Given the description of an element on the screen output the (x, y) to click on. 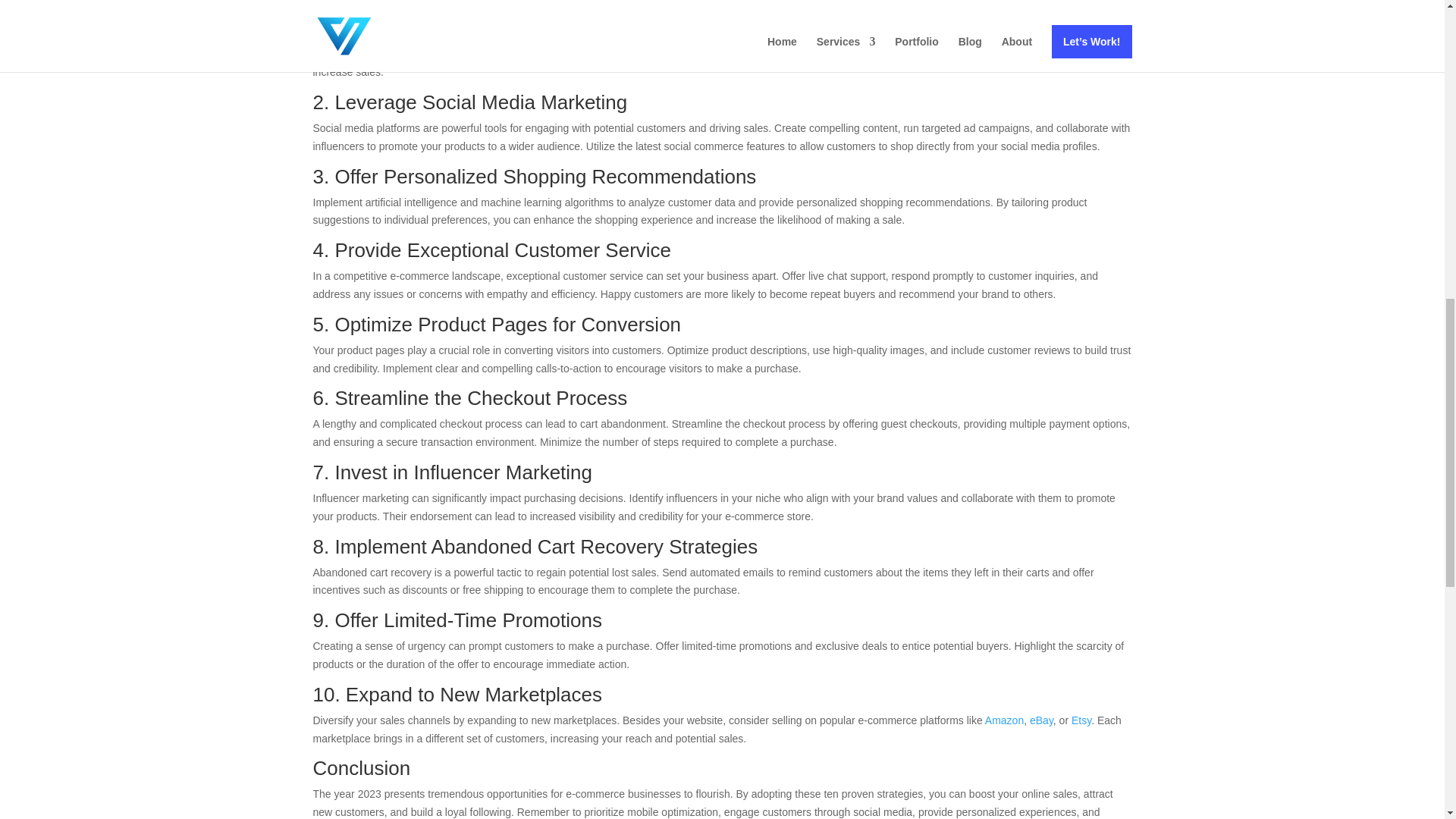
eBay (1040, 720)
Amazon (1004, 720)
Etsy (1080, 720)
